Given the description of an element on the screen output the (x, y) to click on. 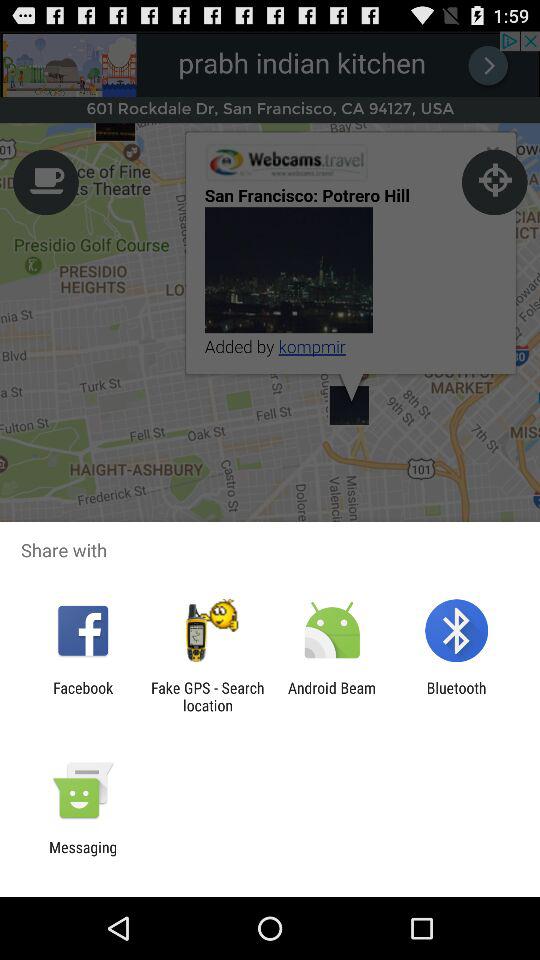
choose bluetooth app (456, 696)
